Given the description of an element on the screen output the (x, y) to click on. 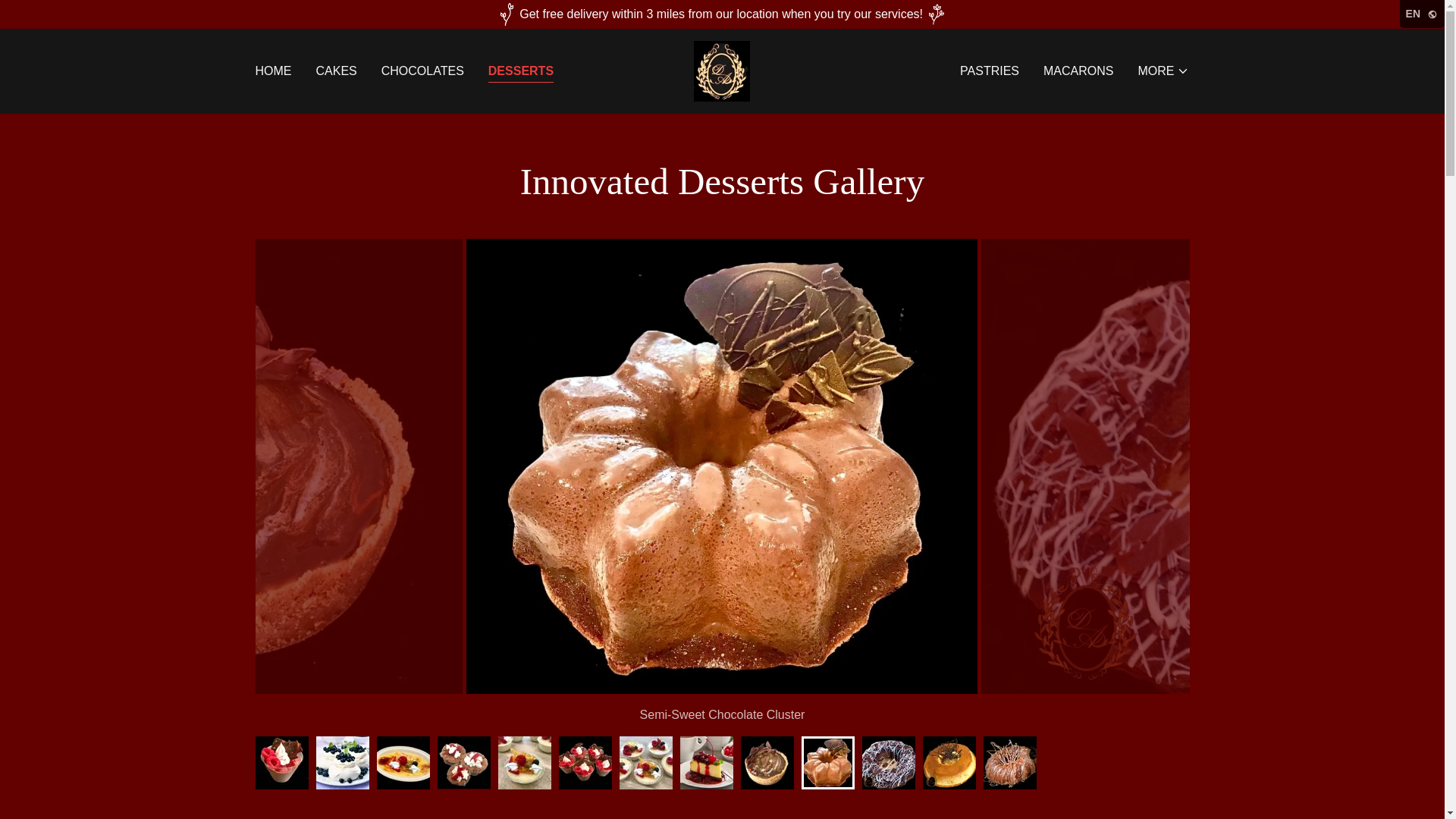
MORE (1163, 71)
MACARONS (1078, 71)
CAKES (336, 71)
CHOCOLATES (422, 71)
Dolce Affeto Patisserie  (721, 69)
HOME (272, 71)
PASTRIES (989, 71)
DESSERTS (520, 72)
